Given the description of an element on the screen output the (x, y) to click on. 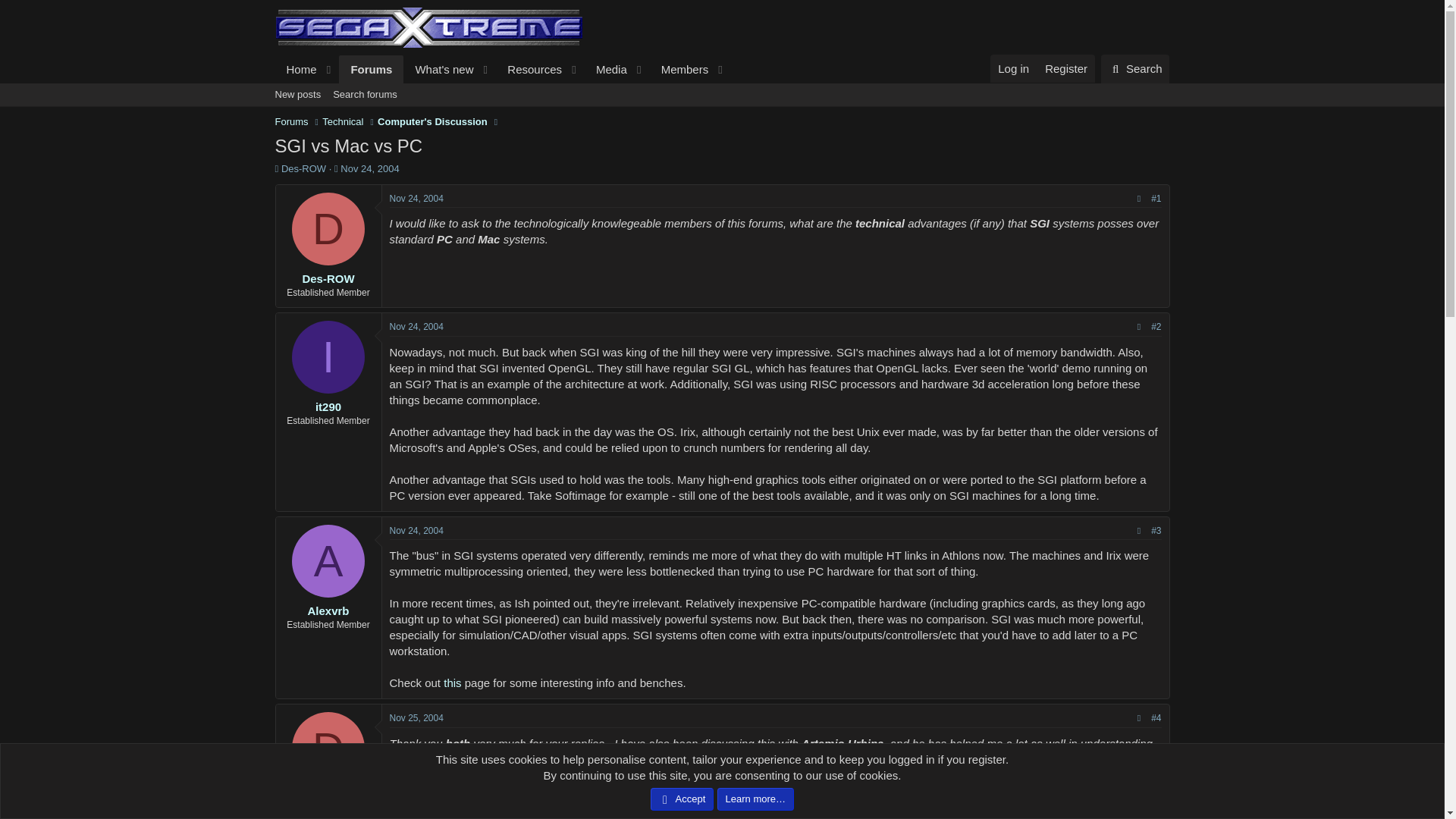
New posts (296, 94)
Nov 24, 2004 at 12:10 PM (417, 198)
Media (606, 69)
Nov 24, 2004 at 10:40 PM (417, 530)
Resources (502, 69)
Register (529, 69)
Search (1065, 68)
Members (1135, 68)
Log in (679, 69)
